Given the description of an element on the screen output the (x, y) to click on. 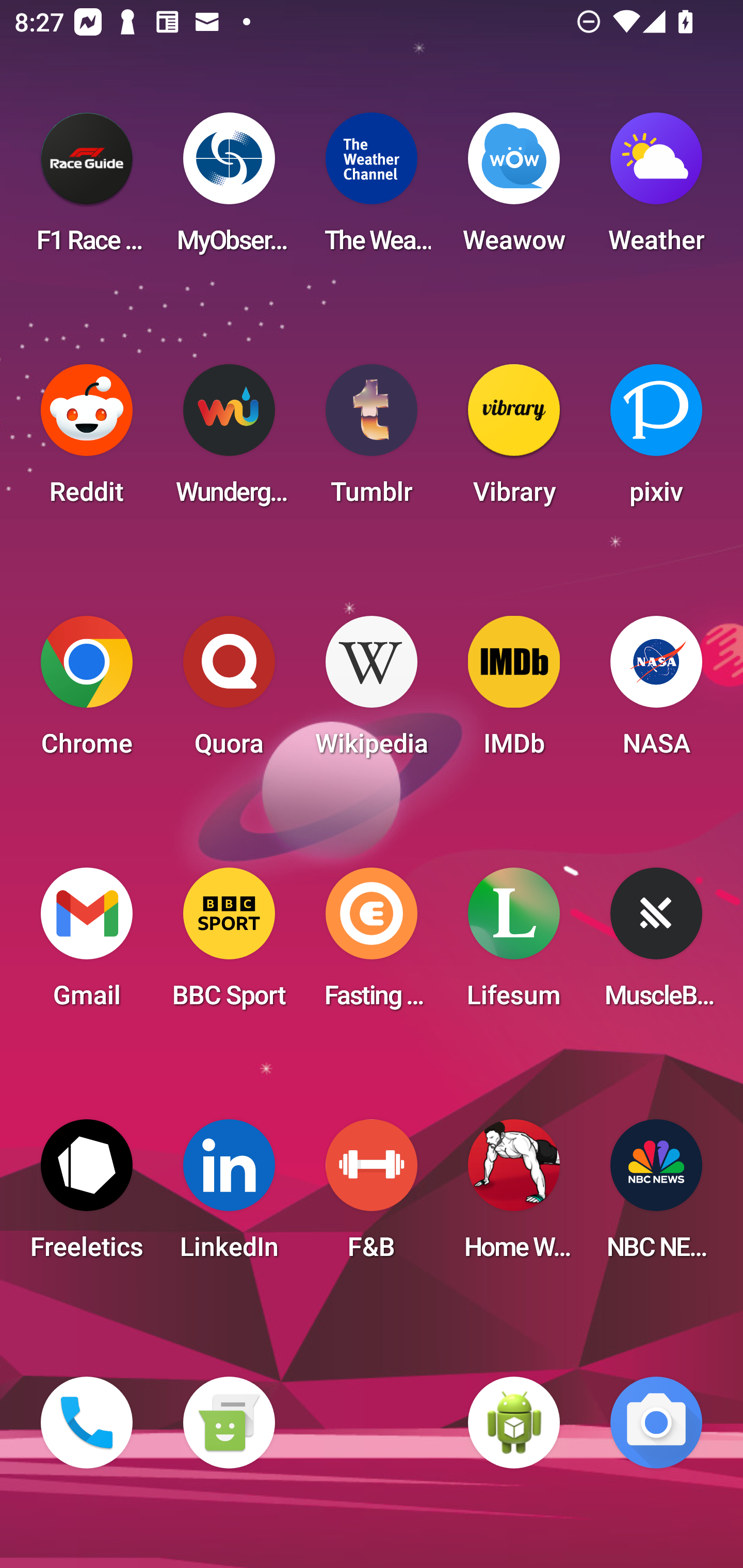
F1 Race Guide (86, 188)
MyObservatory (228, 188)
The Weather Channel (371, 188)
Weawow (513, 188)
Weather (656, 188)
Reddit (86, 440)
Wunderground (228, 440)
Tumblr (371, 440)
Vibrary (513, 440)
pixiv (656, 440)
Chrome (86, 692)
Quora (228, 692)
Wikipedia (371, 692)
IMDb (513, 692)
NASA (656, 692)
Gmail (86, 943)
BBC Sport (228, 943)
Fasting Coach (371, 943)
Lifesum (513, 943)
MuscleBooster (656, 943)
Freeletics (86, 1195)
LinkedIn (228, 1195)
F&B (371, 1195)
Home Workout (513, 1195)
NBC NEWS (656, 1195)
Phone (86, 1422)
Messaging (228, 1422)
WebView Browser Tester (513, 1422)
Camera (656, 1422)
